Given the description of an element on the screen output the (x, y) to click on. 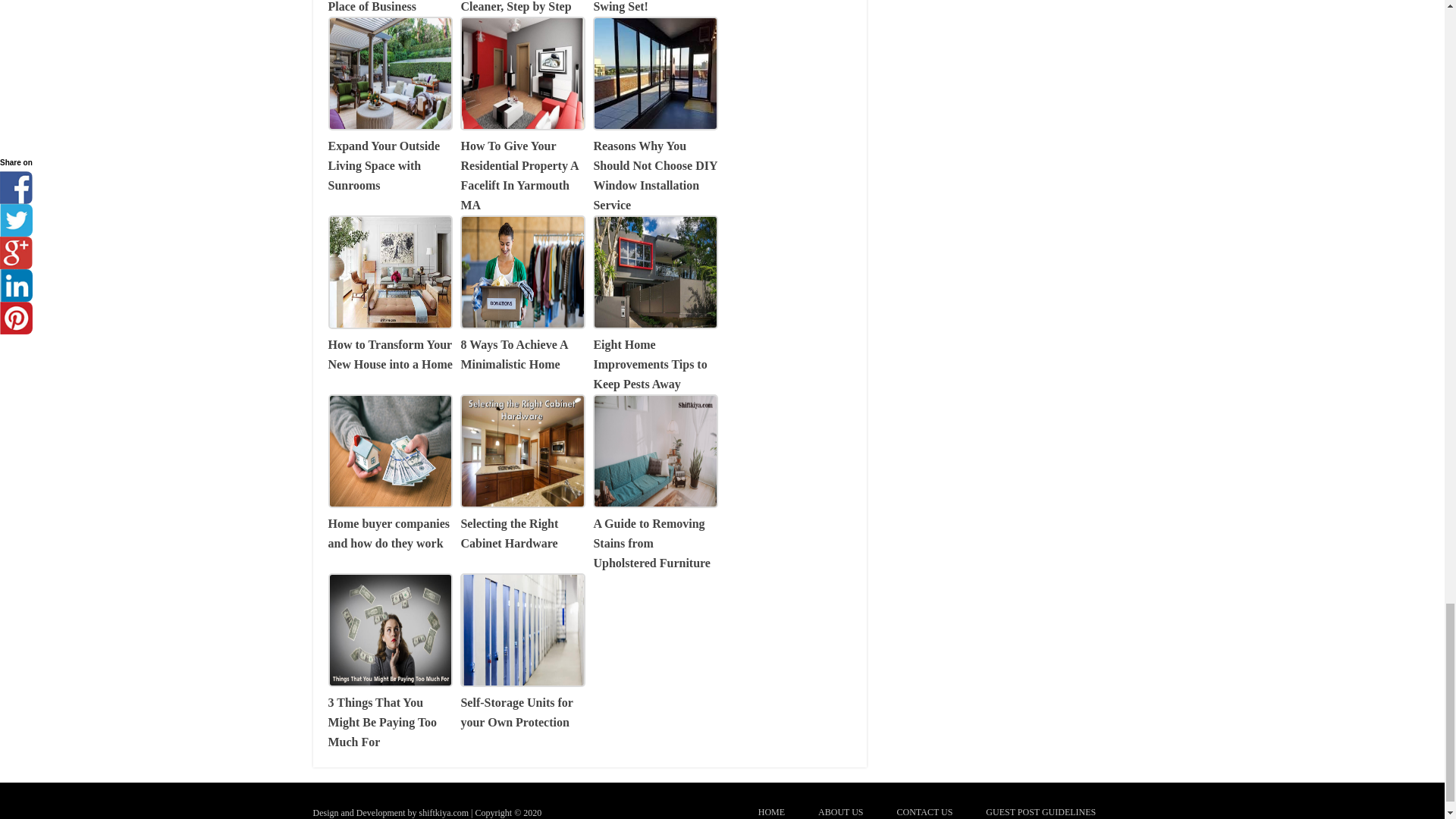
Permanent Link toHow to Transform Your New House into a Home (389, 344)
